Given the description of an element on the screen output the (x, y) to click on. 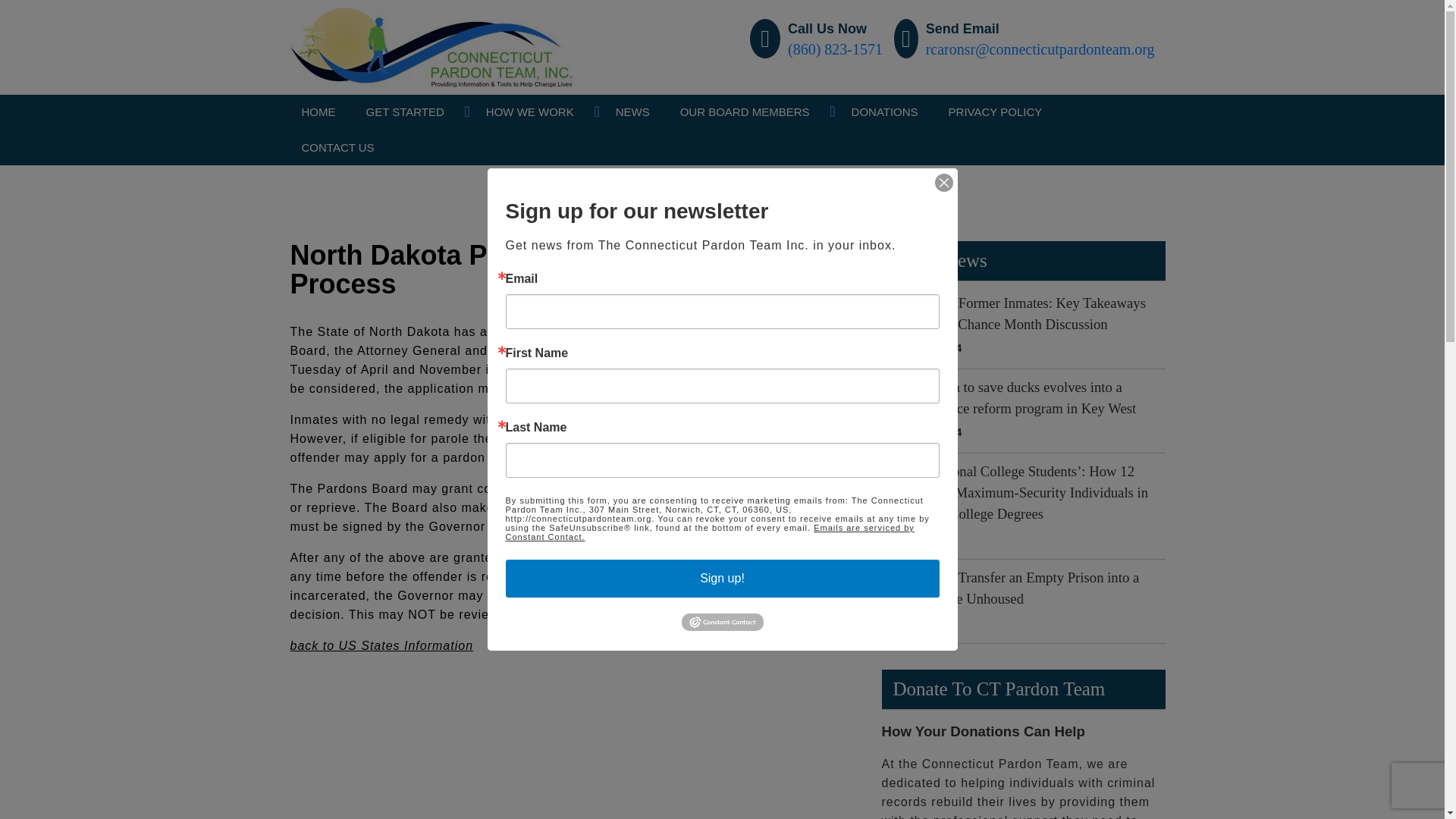
Connecticut Pardon Team (717, 21)
DONATIONS (885, 112)
GET STARTED (405, 112)
NEWS (632, 112)
Close (943, 181)
PRIVACY POLICY (995, 112)
OUR BOARD MEMBERS (744, 112)
CONTACT US (337, 148)
HOME (317, 112)
HOW WE WORK (529, 112)
